Given the description of an element on the screen output the (x, y) to click on. 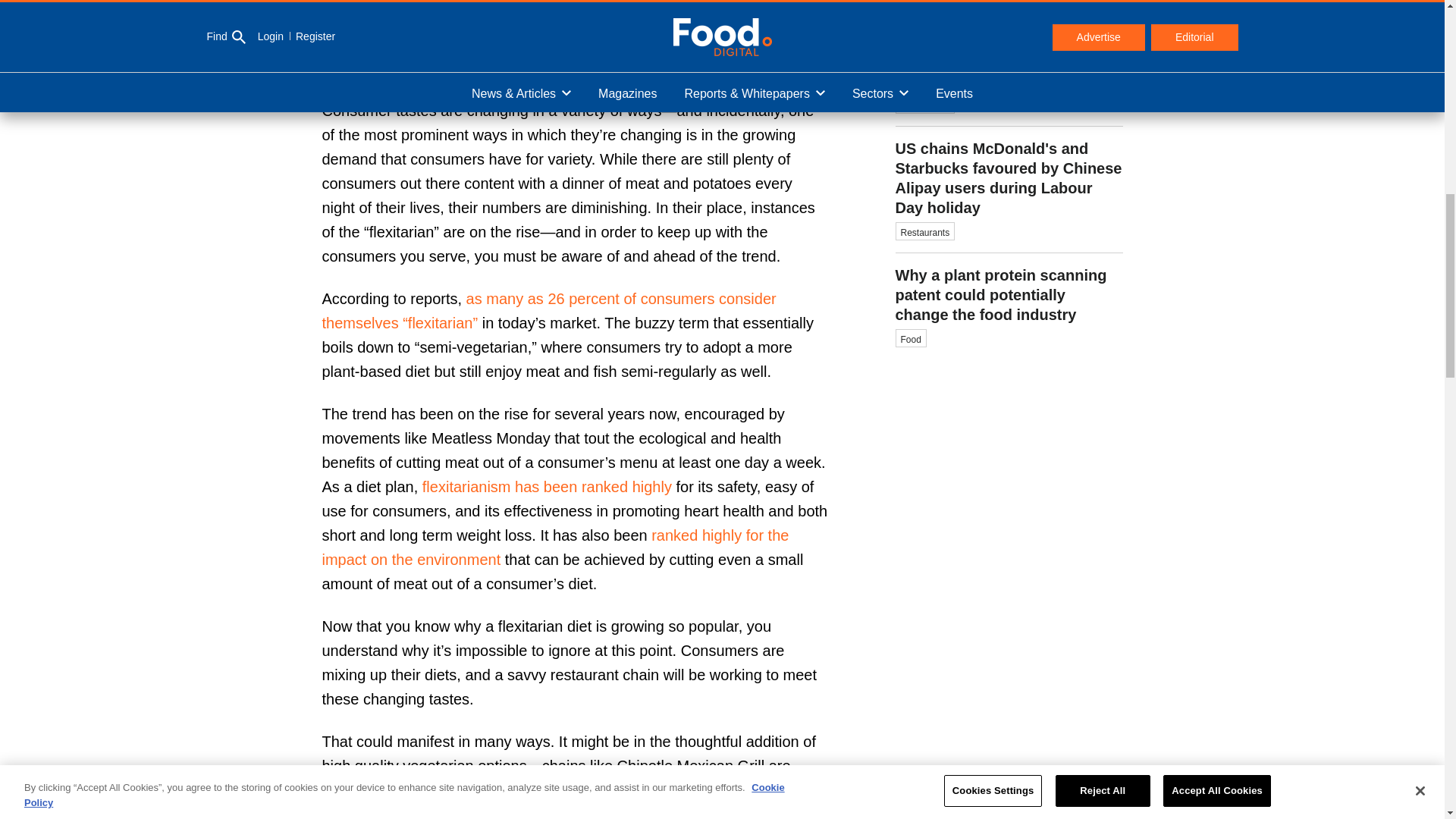
ranked highly for the impact on the environment (555, 547)
flexitarianism has been ranked highly (546, 486)
